Given the description of an element on the screen output the (x, y) to click on. 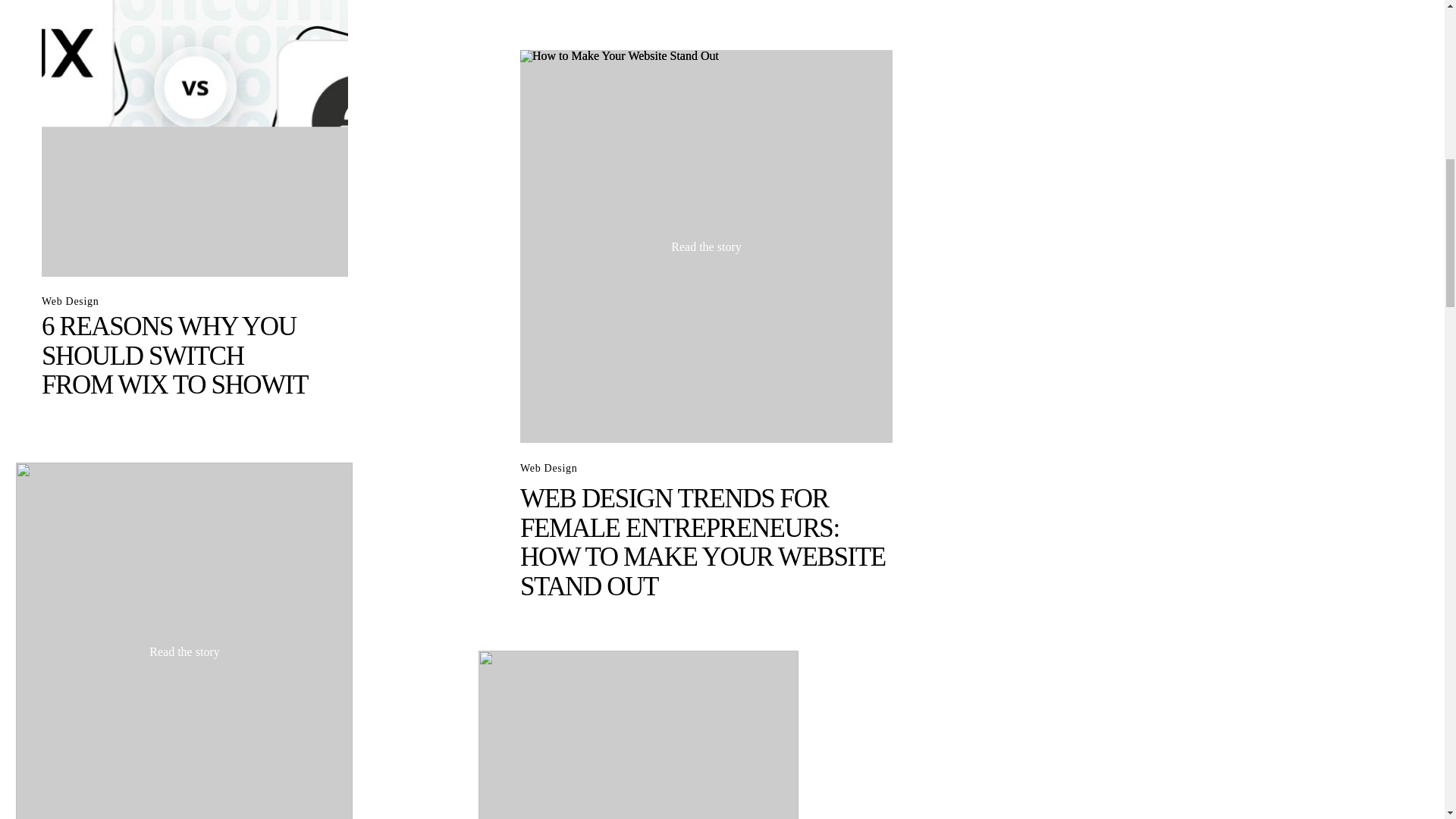
6 REASONS WHY YOU SHOULD SWITCH FROM WIX TO SHOWIT (174, 355)
Read the story (706, 246)
Web Design (70, 301)
Unveiling the Best for Creative: Showit vs Squarespace (184, 640)
Web Design (547, 468)
6 Reasons Why You Should Switch from Wix to Showit (194, 138)
6 Reasons Why You Should Switch from Wix to Showit (194, 138)
Read the story (183, 650)
Read the story (194, 76)
